Given the description of an element on the screen output the (x, y) to click on. 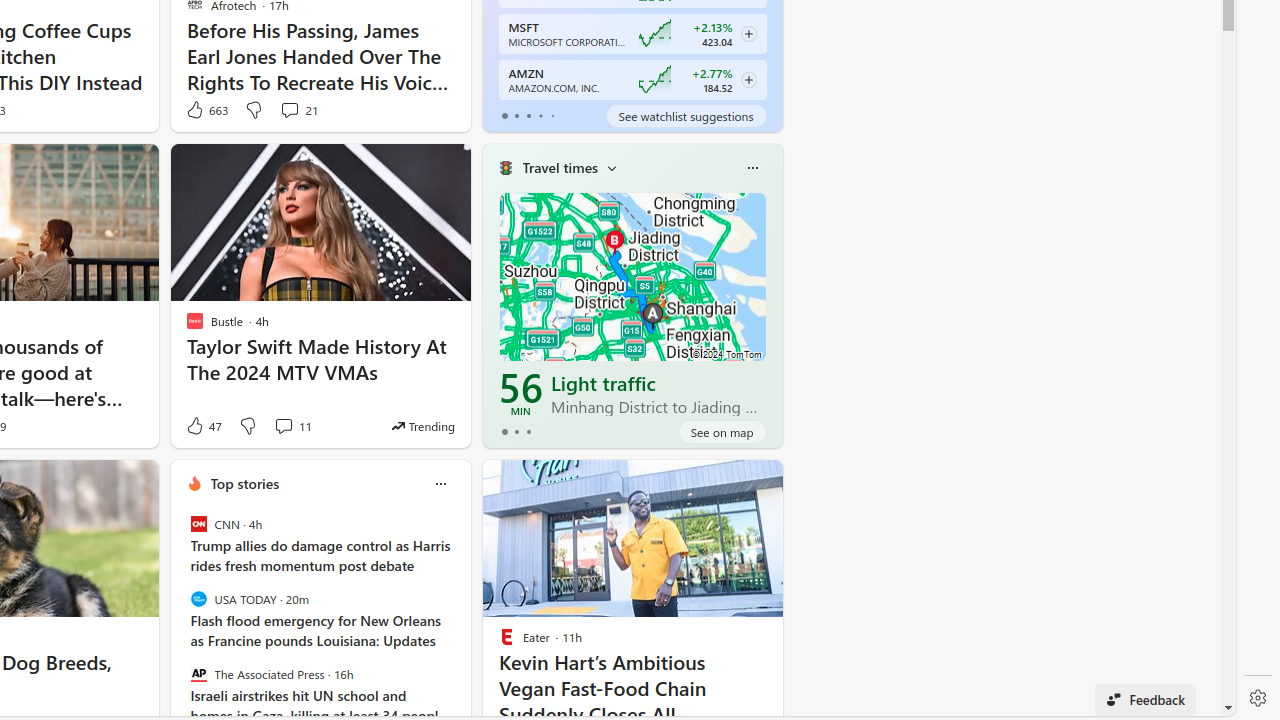
tab-0 Element type: page-tab (504, 432)
MSFT MICROSOFT CORPORATION ‎+2.13%‎ 423.04 Element type: link (632, 34)
View comments 21 Comment Element type: push-button (289, 110)
Advertise Element type: link (949, 703)
Dislike Element type: toggle-button (247, 426)
